Given the description of an element on the screen output the (x, y) to click on. 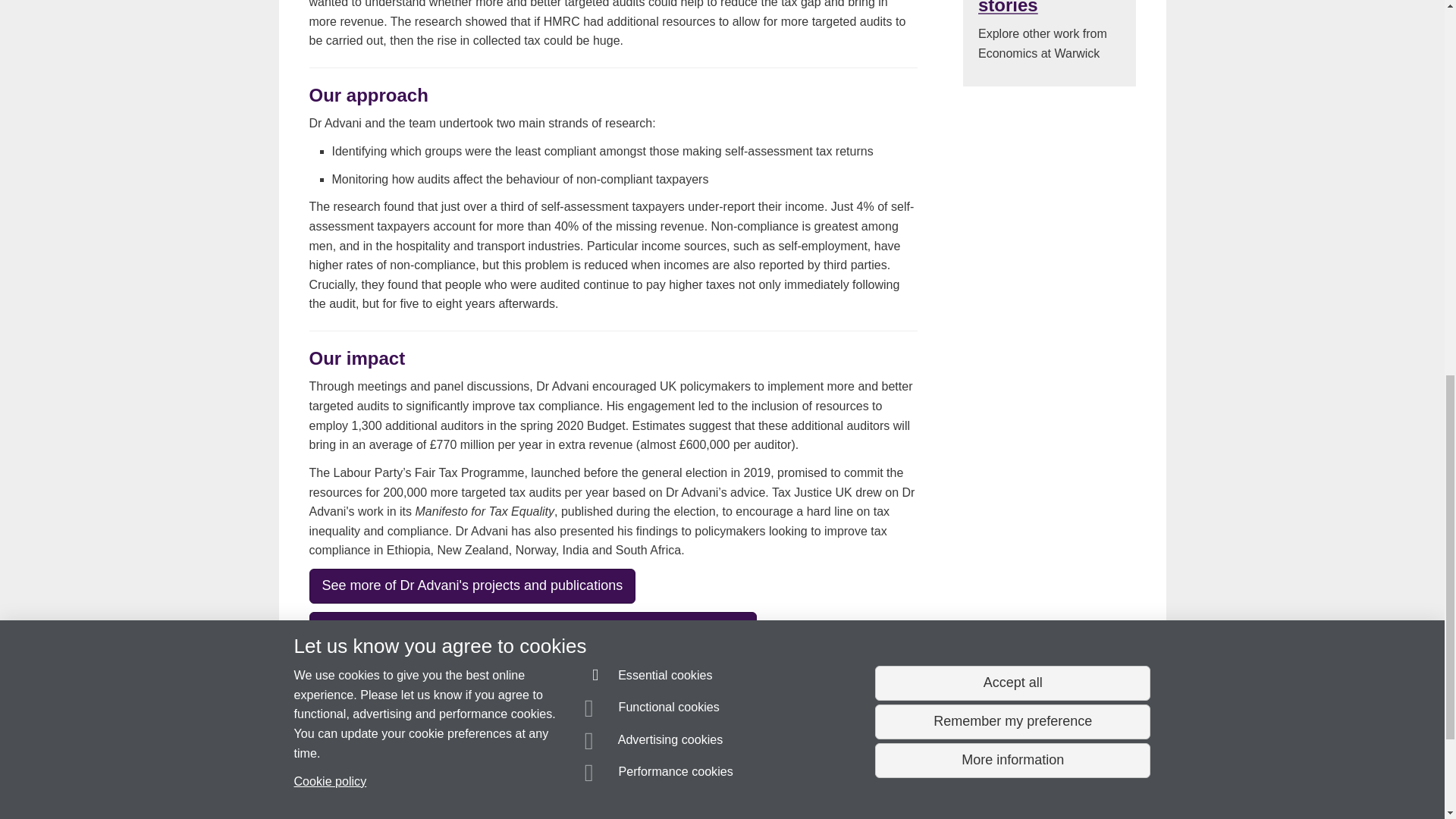
University of Warwick on Facebook (1032, 751)
University of Warwick on YouTube (1076, 751)
University of Warwick on Twitter (1118, 751)
